Given the description of an element on the screen output the (x, y) to click on. 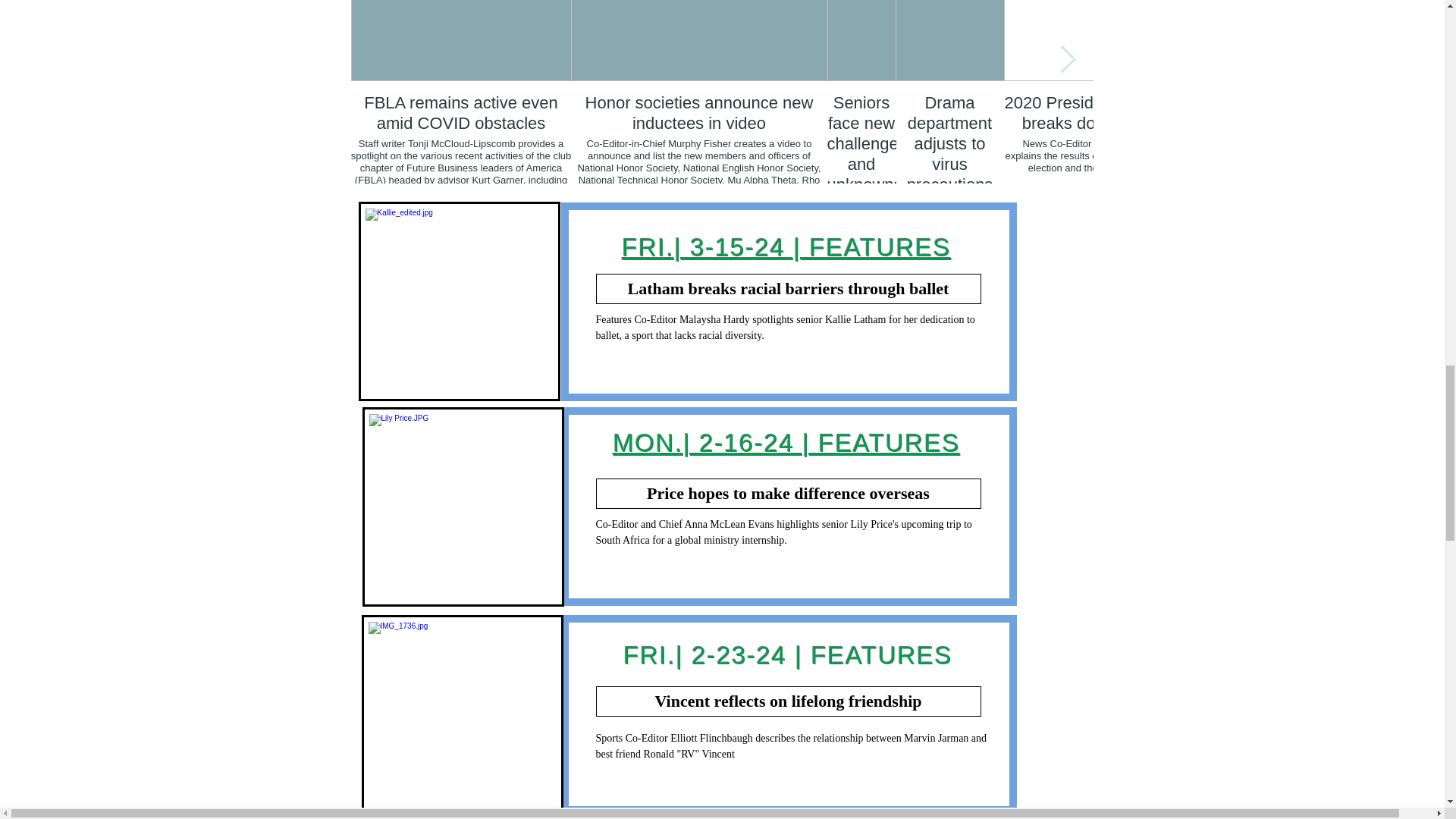
Price hopes to make difference overseas (788, 493)
Vincent reflects on lifelong friendship (788, 701)
Latham breaks racial barriers through ballet (788, 288)
